Given the description of an element on the screen output the (x, y) to click on. 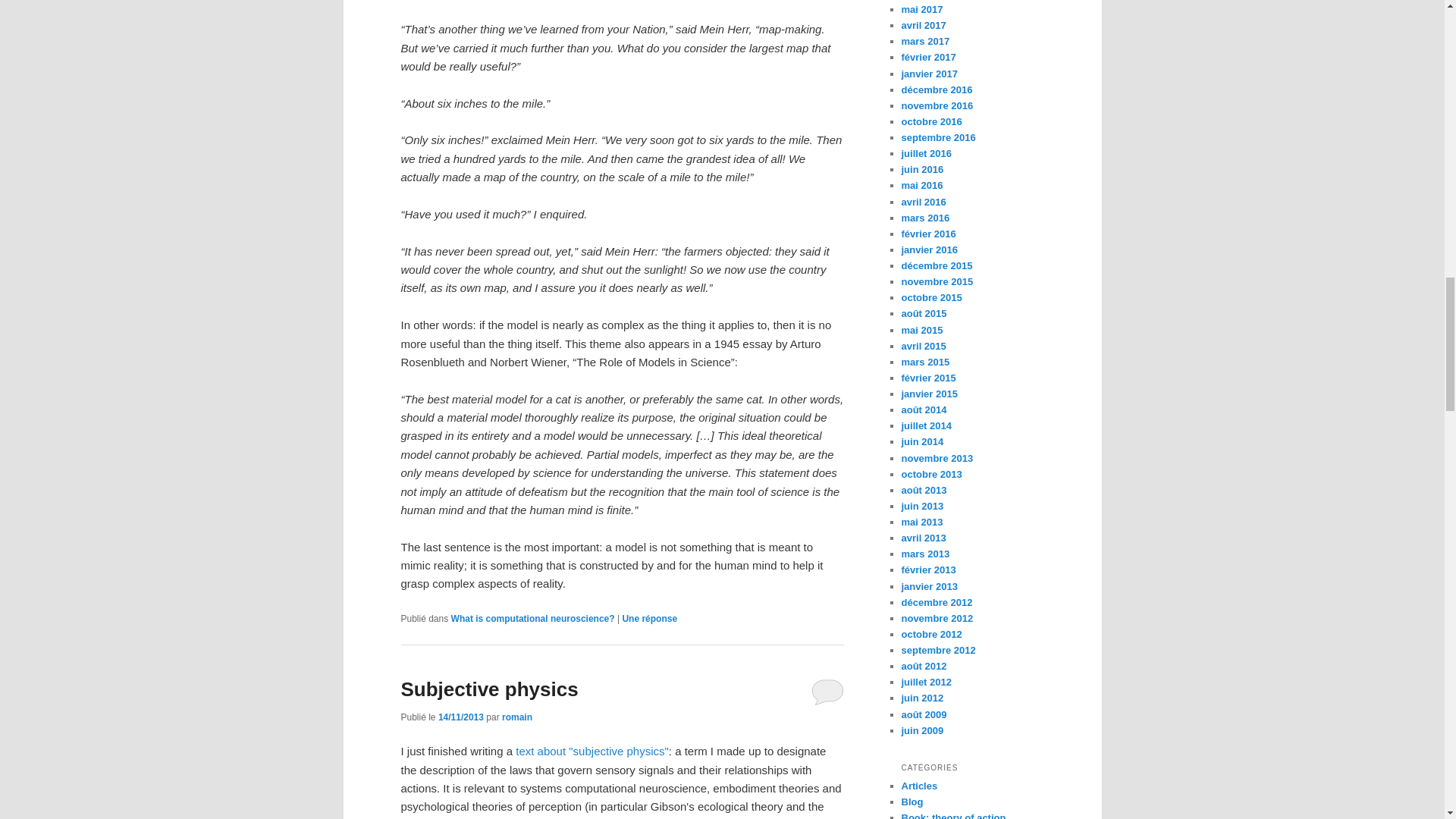
text about "subjective physics" (591, 750)
Afficher tous les articles par romain (517, 716)
What is computational neuroscience? (532, 618)
romain (517, 716)
Subjective physics (489, 689)
7:55   (460, 716)
